Given the description of an element on the screen output the (x, y) to click on. 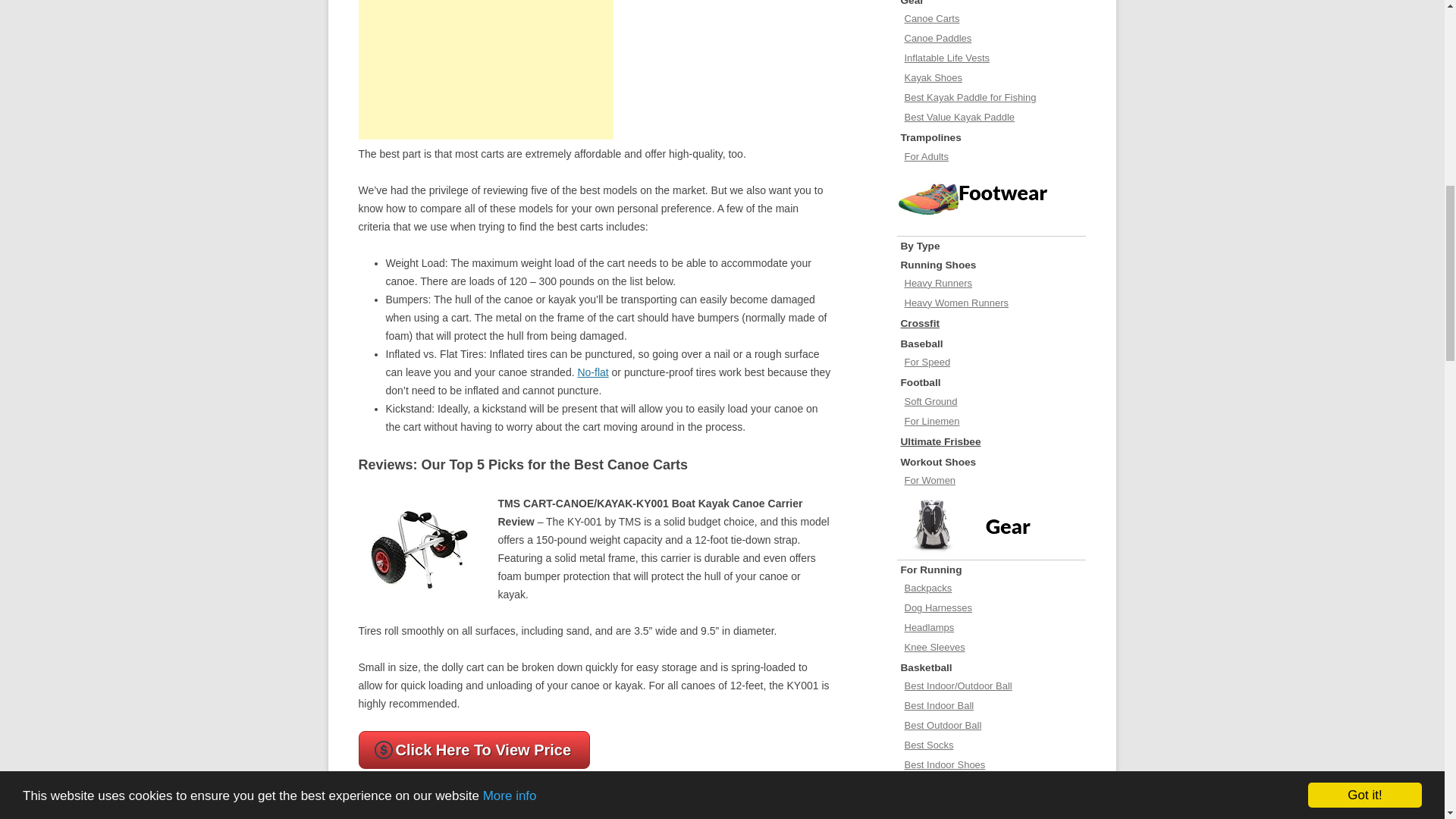
Advertisement (485, 69)
Click Here To View Price (473, 750)
No-flat (592, 372)
